Given the description of an element on the screen output the (x, y) to click on. 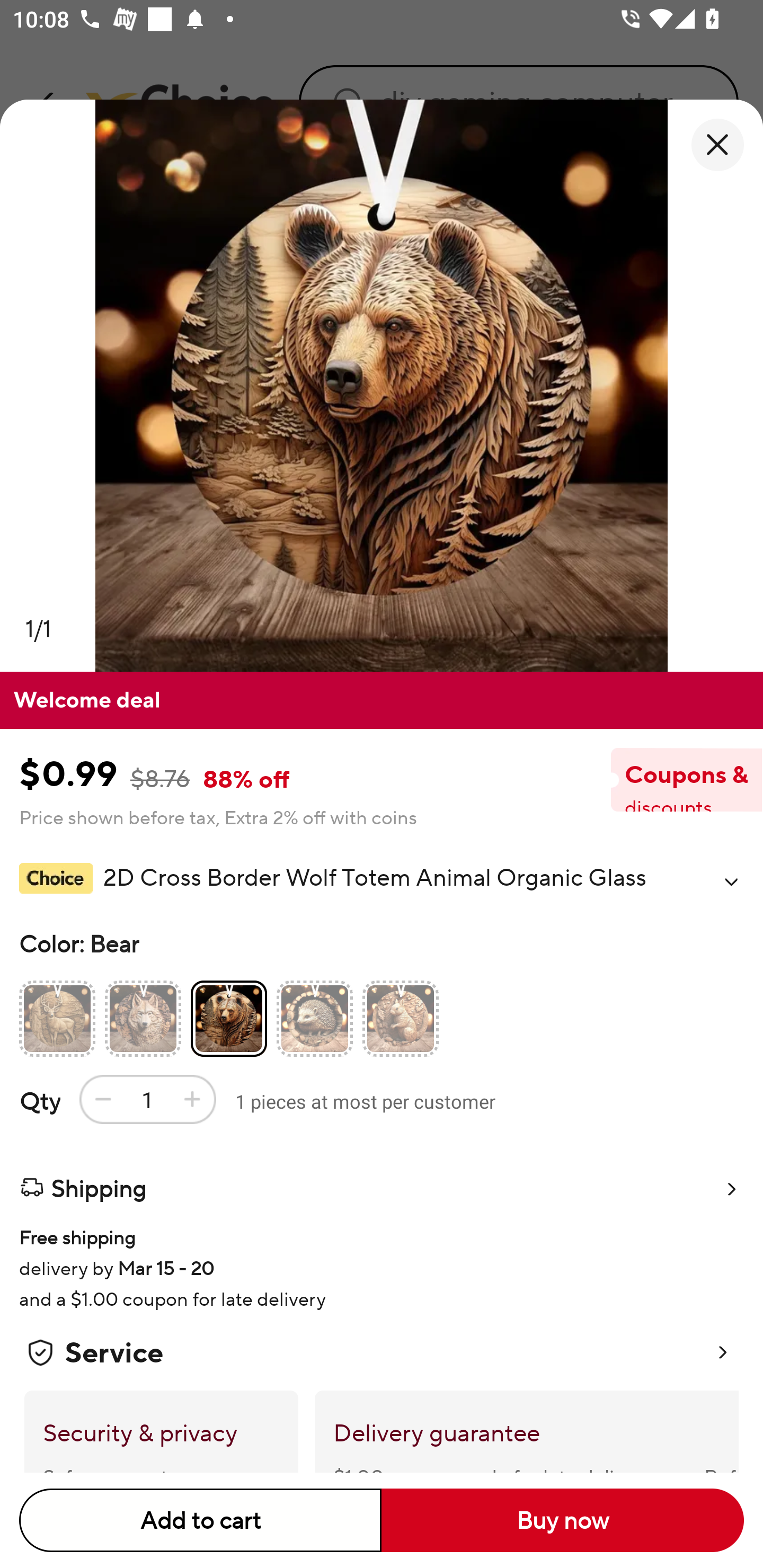
close  (717, 144)
 (730, 881)
Add to cart (200, 1520)
Buy now (562, 1520)
